Given the description of an element on the screen output the (x, y) to click on. 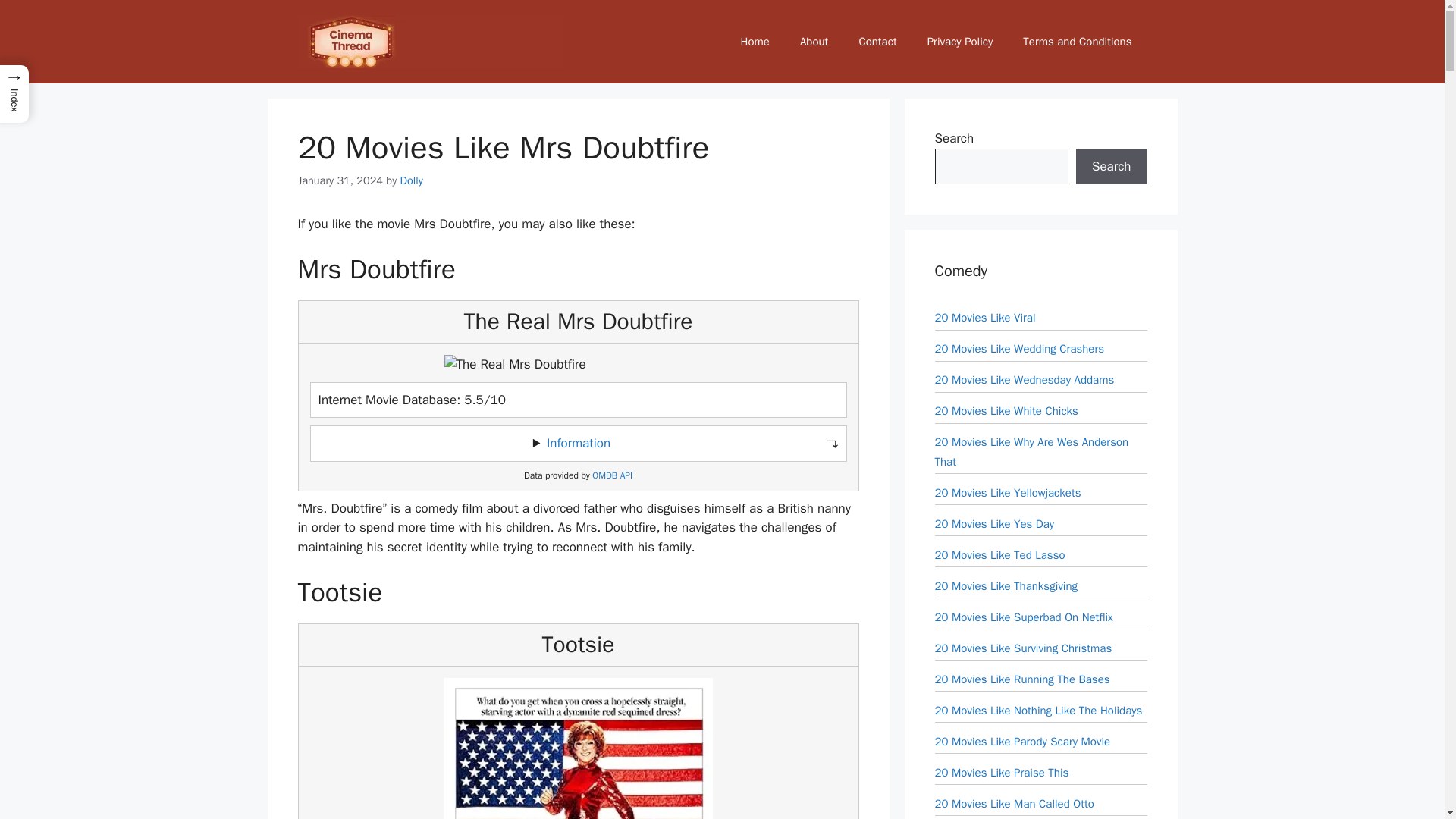
Home (754, 41)
About (813, 41)
Contact (877, 41)
Dolly (411, 180)
View all posts by Dolly (411, 180)
Information (578, 442)
Privacy Policy (960, 41)
Open Movie Database API (611, 475)
OMDB API (611, 475)
Toggle information (578, 443)
